Given the description of an element on the screen output the (x, y) to click on. 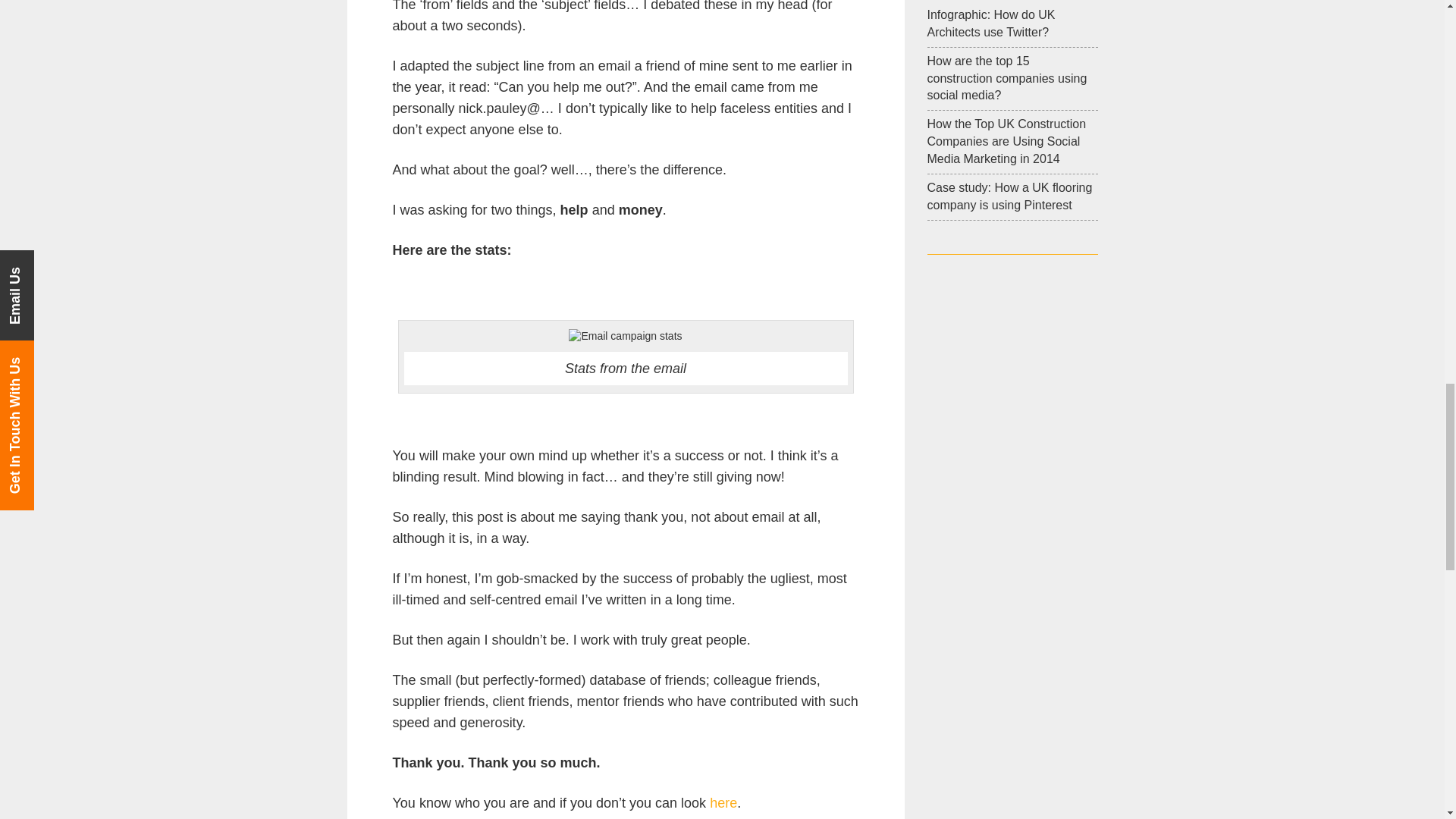
Nick's Just Giving Page (723, 802)
Email Results (625, 336)
